Given the description of an element on the screen output the (x, y) to click on. 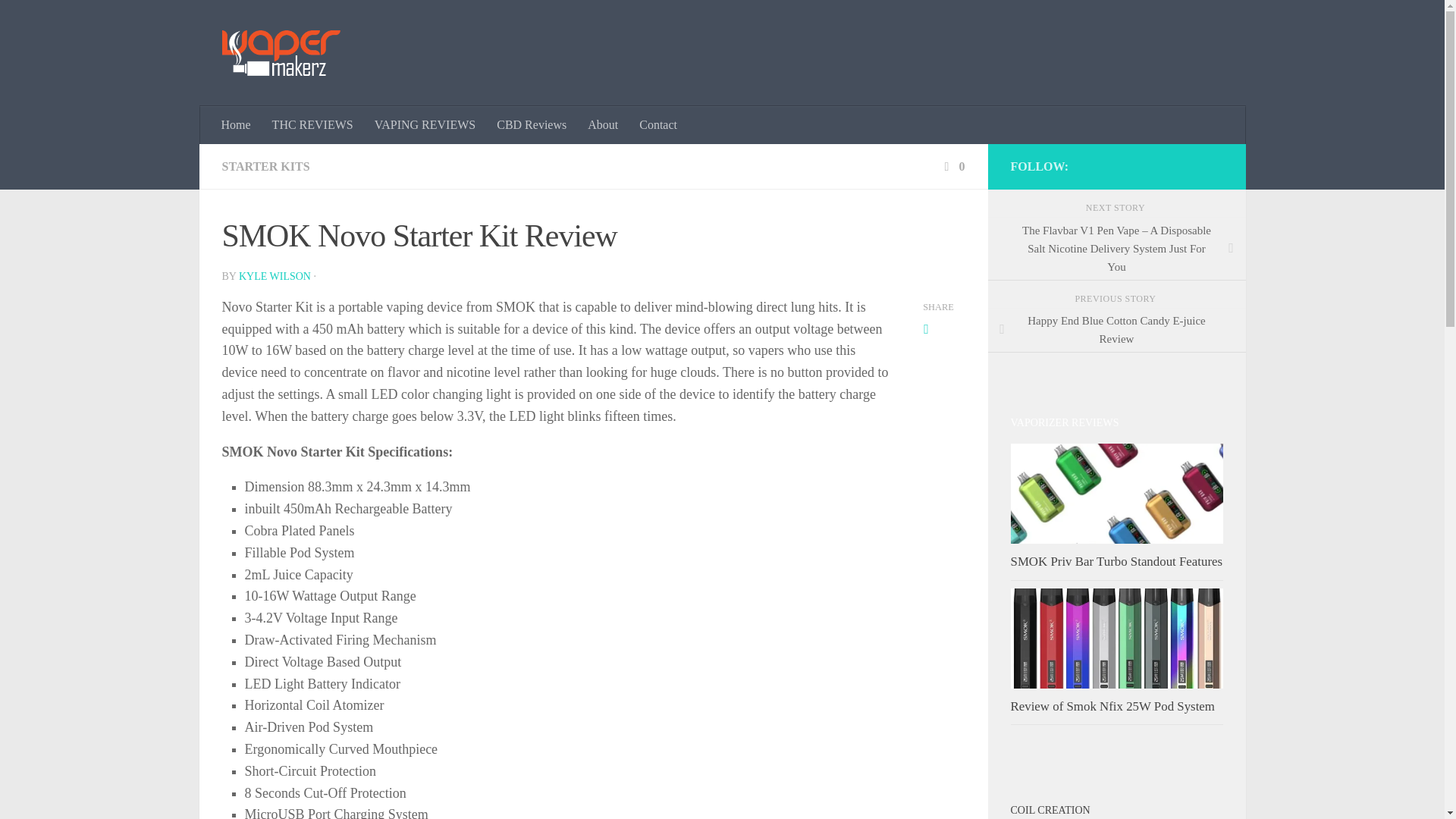
KYLE WILSON (274, 276)
About (602, 125)
CBD Reviews (531, 125)
Contact (657, 125)
VAPING REVIEWS (425, 125)
Posts by Kyle Wilson (274, 276)
THC REVIEWS (313, 125)
Skip to content (59, 20)
Home (236, 125)
STARTER KITS (264, 165)
